Given the description of an element on the screen output the (x, y) to click on. 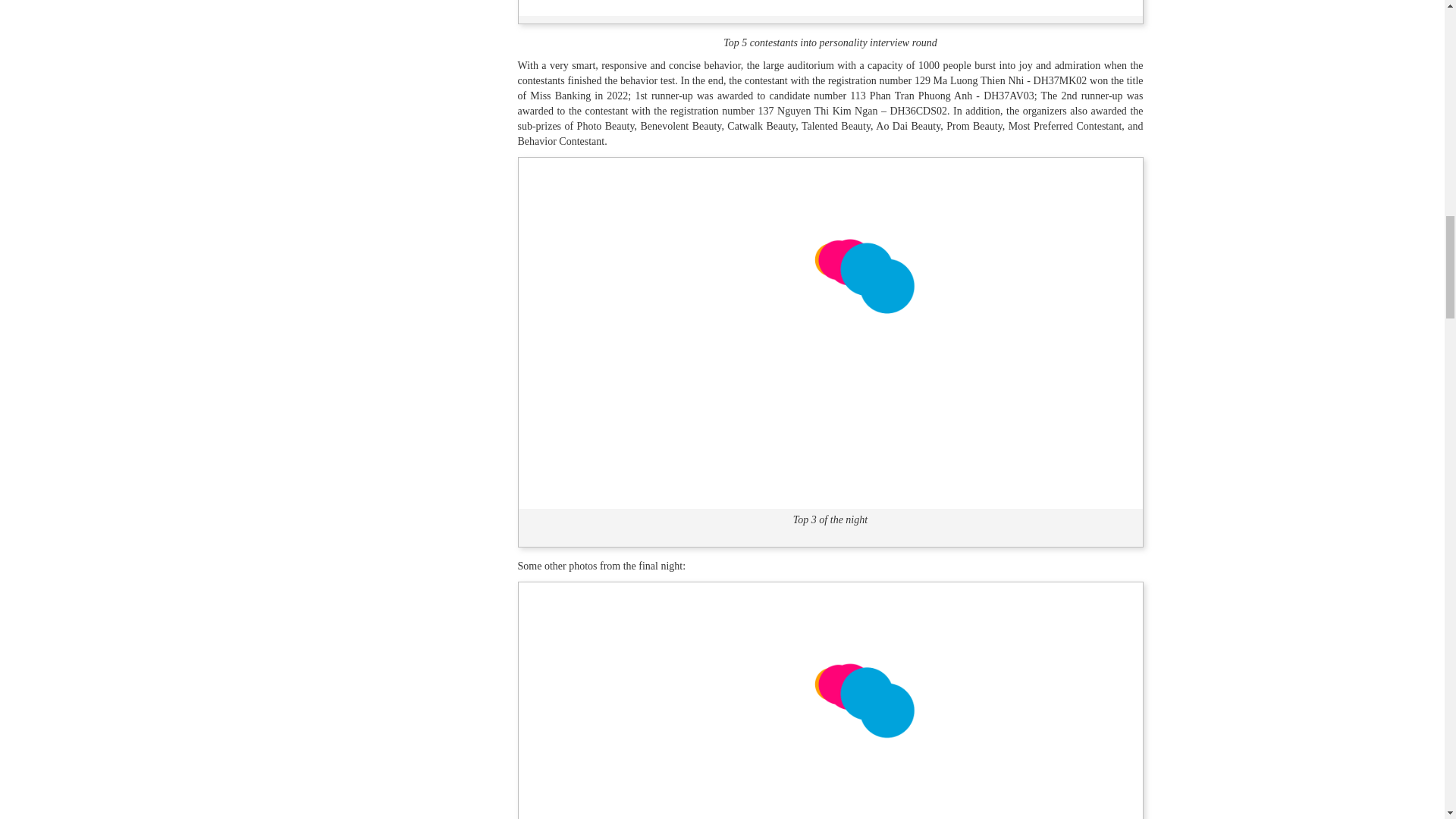
MISS BANKING 2022 (830, 331)
MISS BANKING 2022 (830, 756)
